Given the description of an element on the screen output the (x, y) to click on. 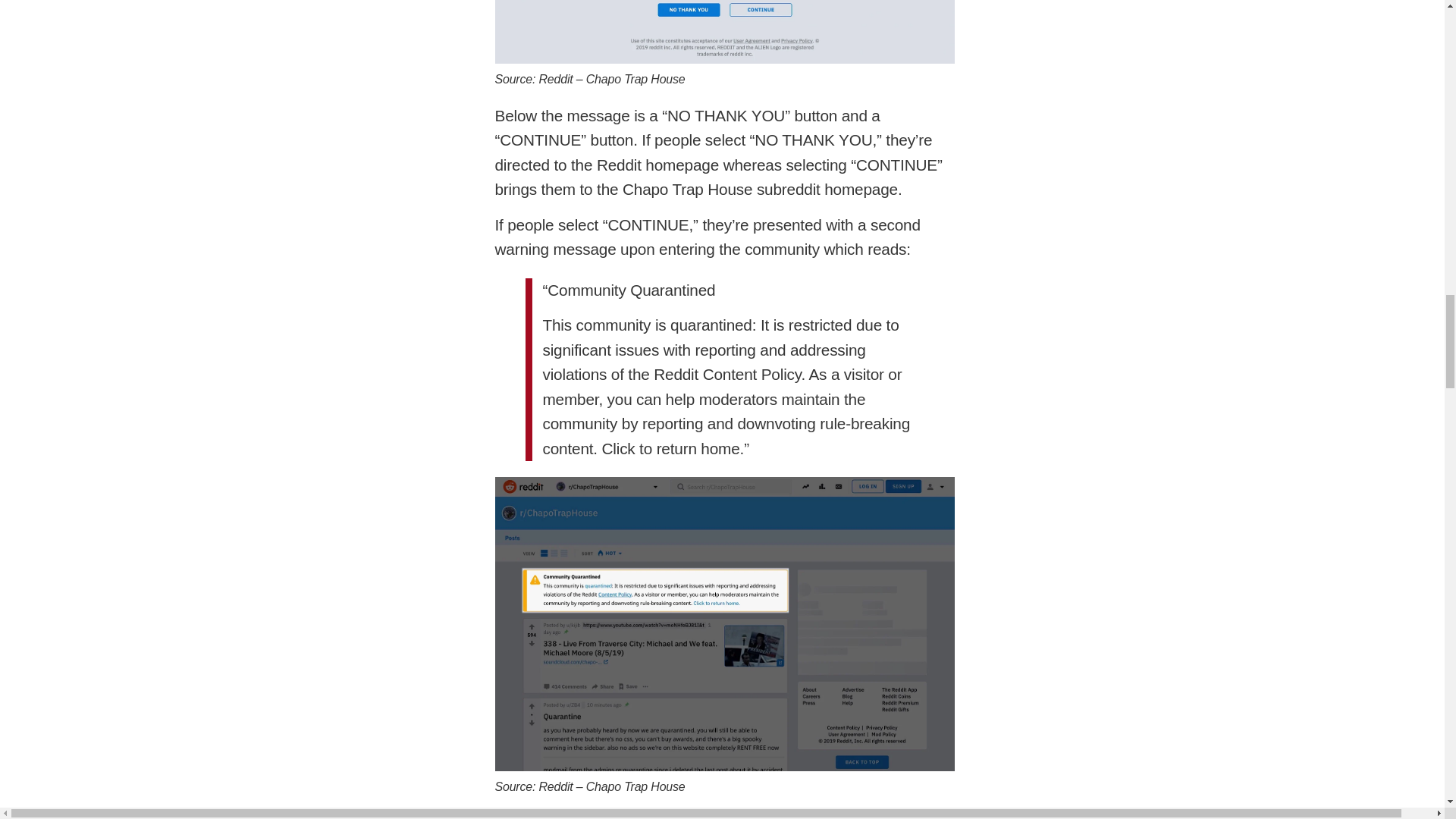
Chapo Trap House (635, 78)
Chapo Trap House (635, 786)
